Given the description of an element on the screen output the (x, y) to click on. 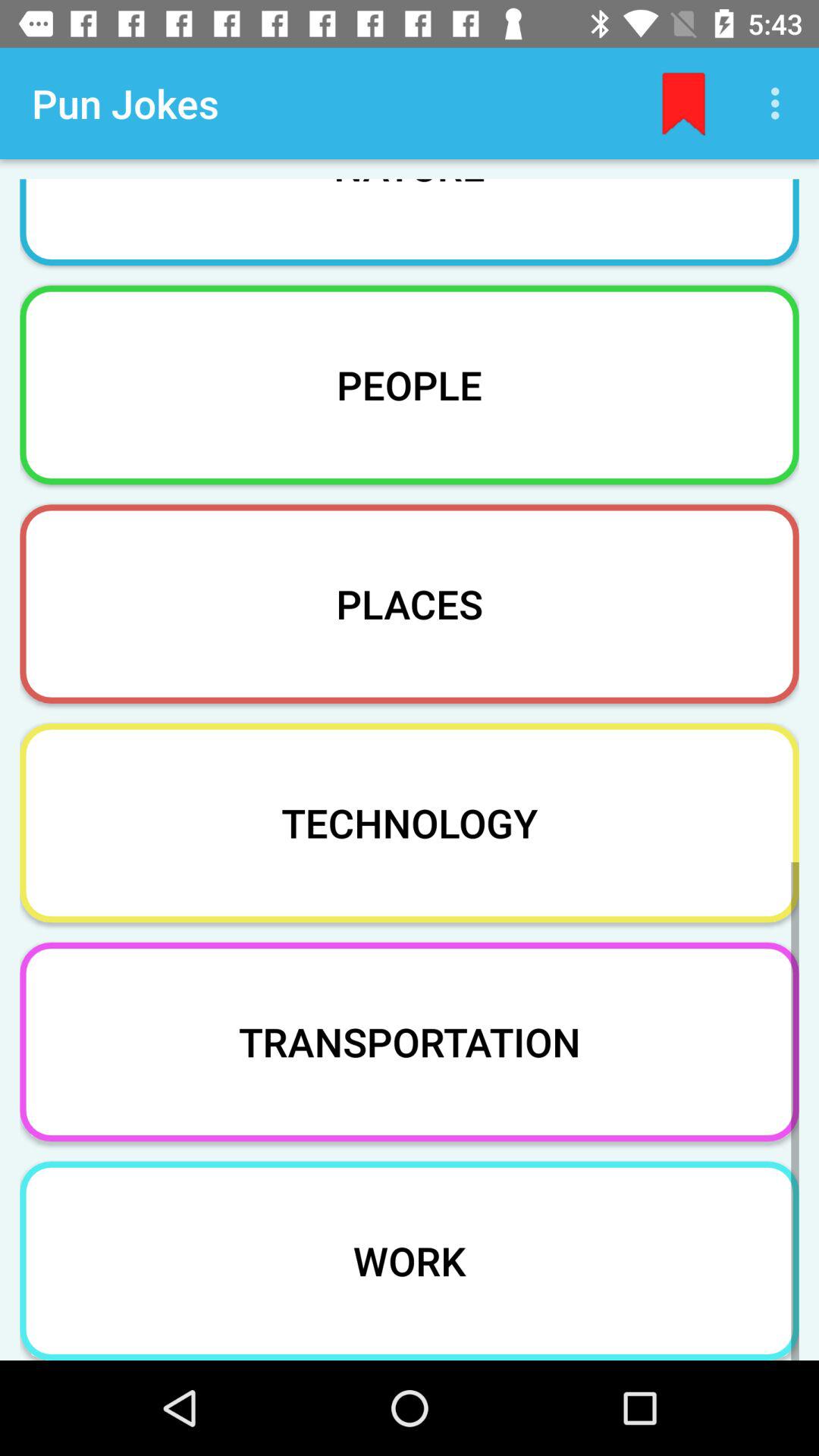
scroll until the transportation icon (409, 1041)
